Given the description of an element on the screen output the (x, y) to click on. 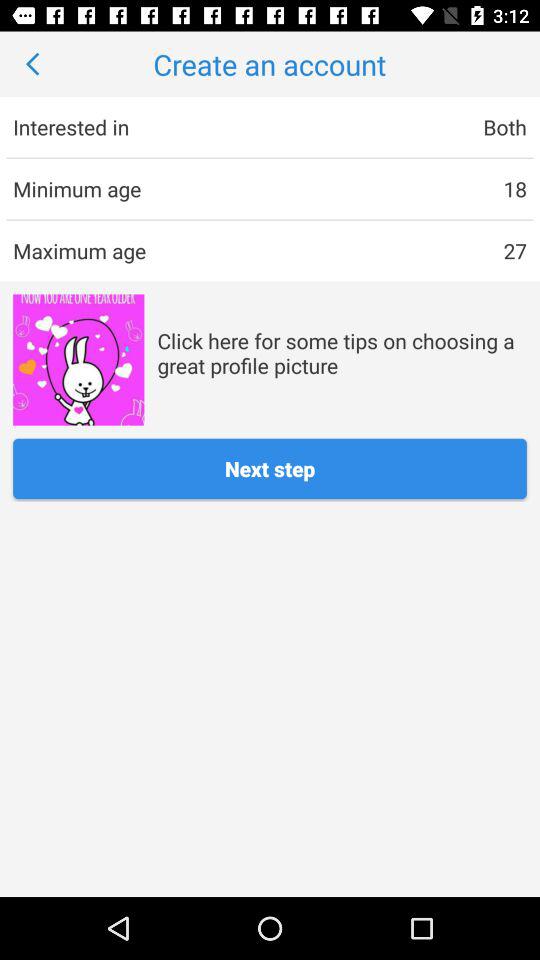
choose button above next step button (78, 359)
